Given the description of an element on the screen output the (x, y) to click on. 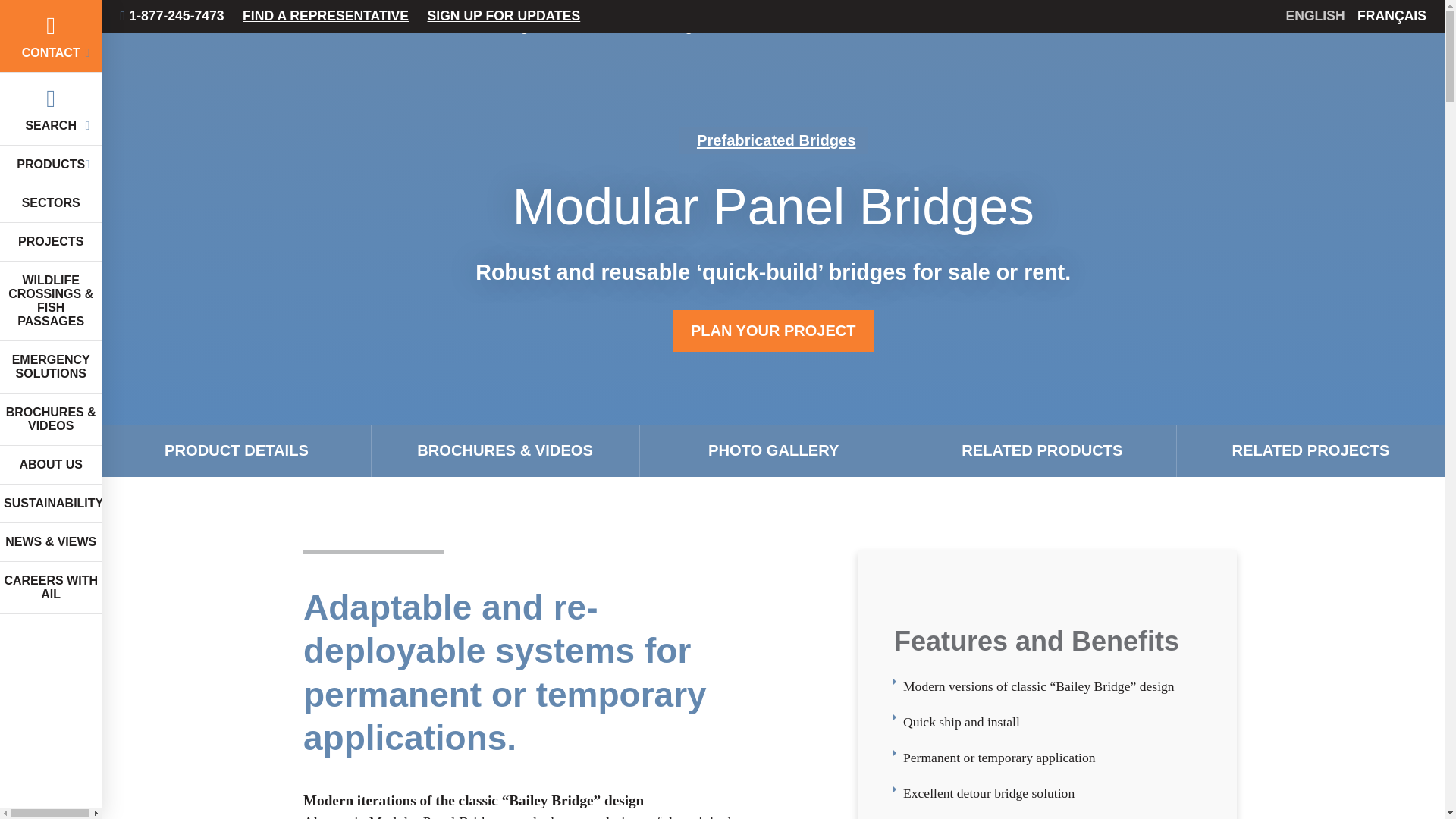
PROJECTS (50, 241)
ABOUT US (50, 464)
CAREERS WITH AIL (50, 587)
SEARCH (50, 108)
EMERGENCY SOLUTIONS (50, 367)
SUSTAINABILITY (50, 503)
Go to Home. (366, 26)
Go to Prefabricated Bridges. (473, 26)
CONTACT (50, 36)
SECTORS (50, 203)
PRODUCTS (50, 164)
return home (222, 27)
